Given the description of an element on the screen output the (x, y) to click on. 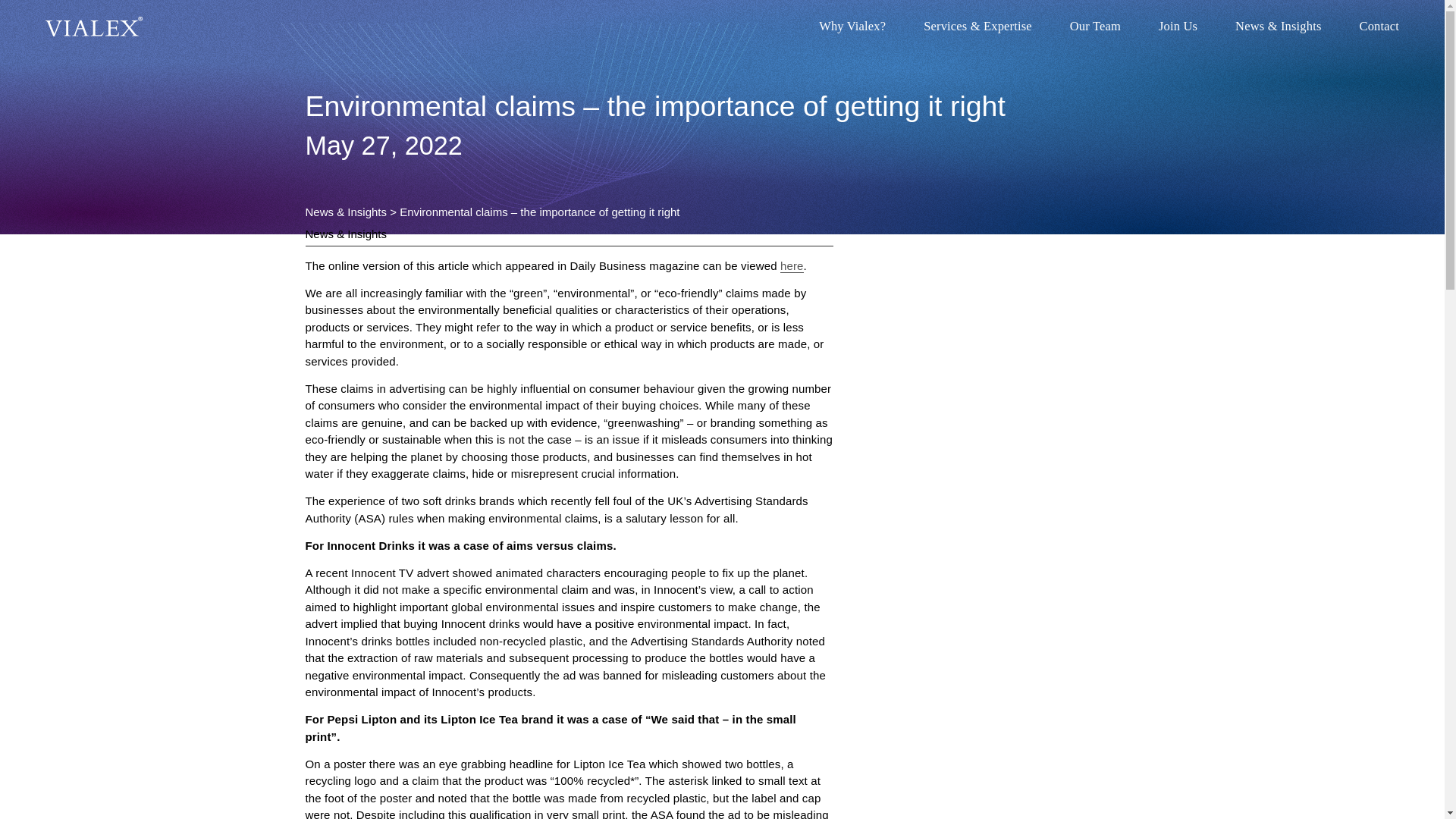
Our Team (1095, 26)
here (791, 265)
Join Us (1177, 26)
Contact (1379, 26)
Why Vialex? (851, 26)
